Given the description of an element on the screen output the (x, y) to click on. 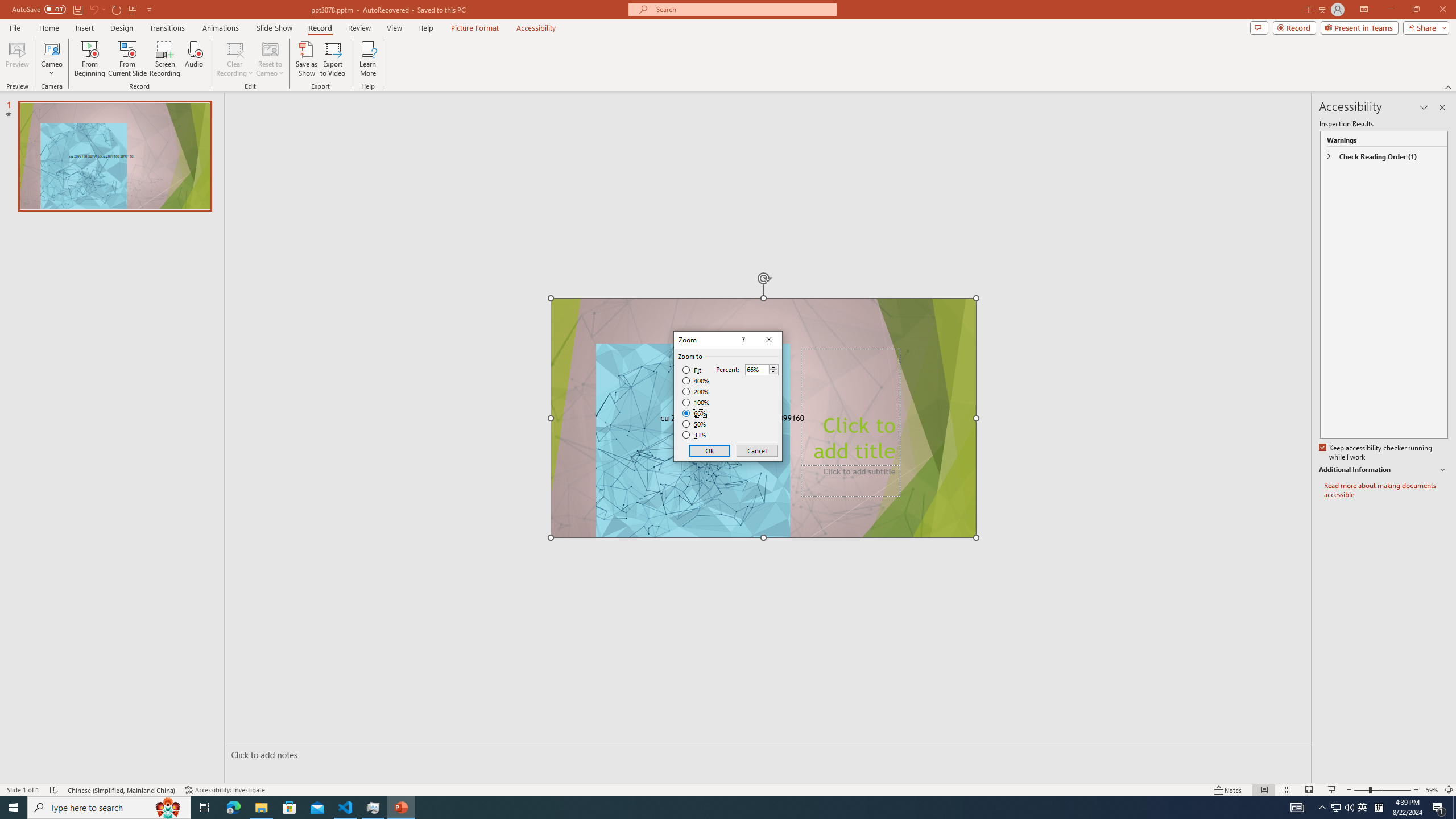
From Beginning... (89, 58)
Notification Chevron (1322, 807)
Tray Input Indicator - Chinese (Simplified, China) (1378, 807)
100% (696, 402)
Keep accessibility checker running while I work (1376, 452)
Microsoft Edge (233, 807)
400% (696, 380)
Task Manager - 1 running window (373, 807)
Less (772, 372)
From Current Slide... (127, 58)
